Given the description of an element on the screen output the (x, y) to click on. 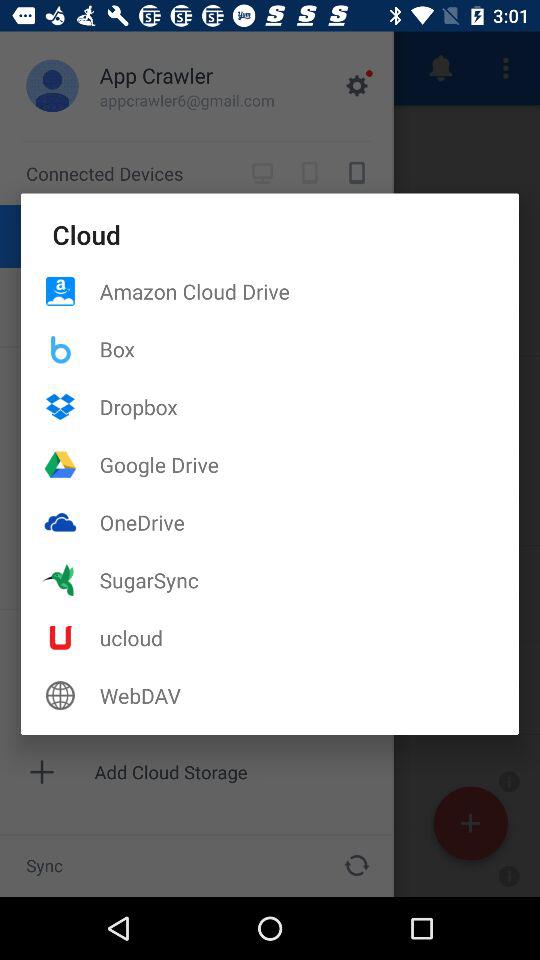
flip to onedrive item (309, 522)
